Given the description of an element on the screen output the (x, y) to click on. 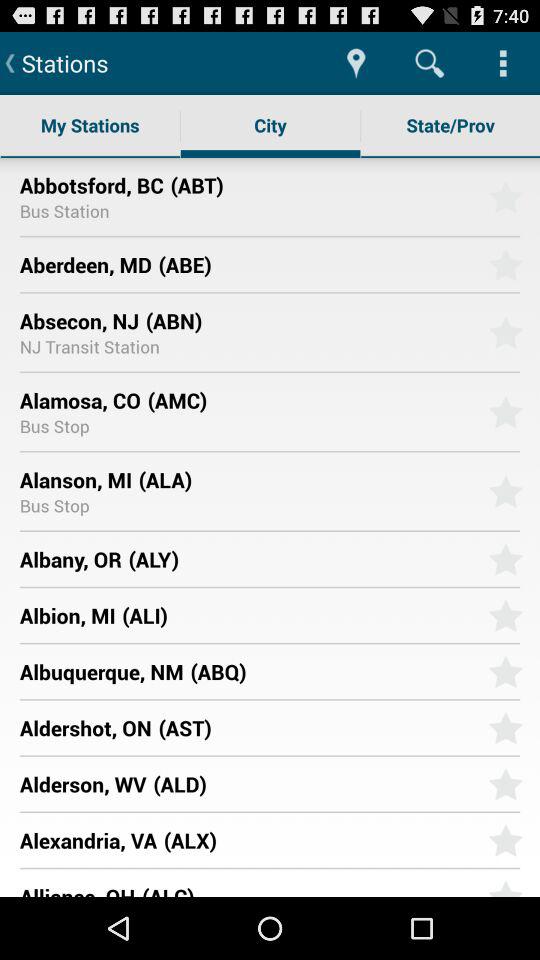
open (alx) icon (318, 840)
